Given the description of an element on the screen output the (x, y) to click on. 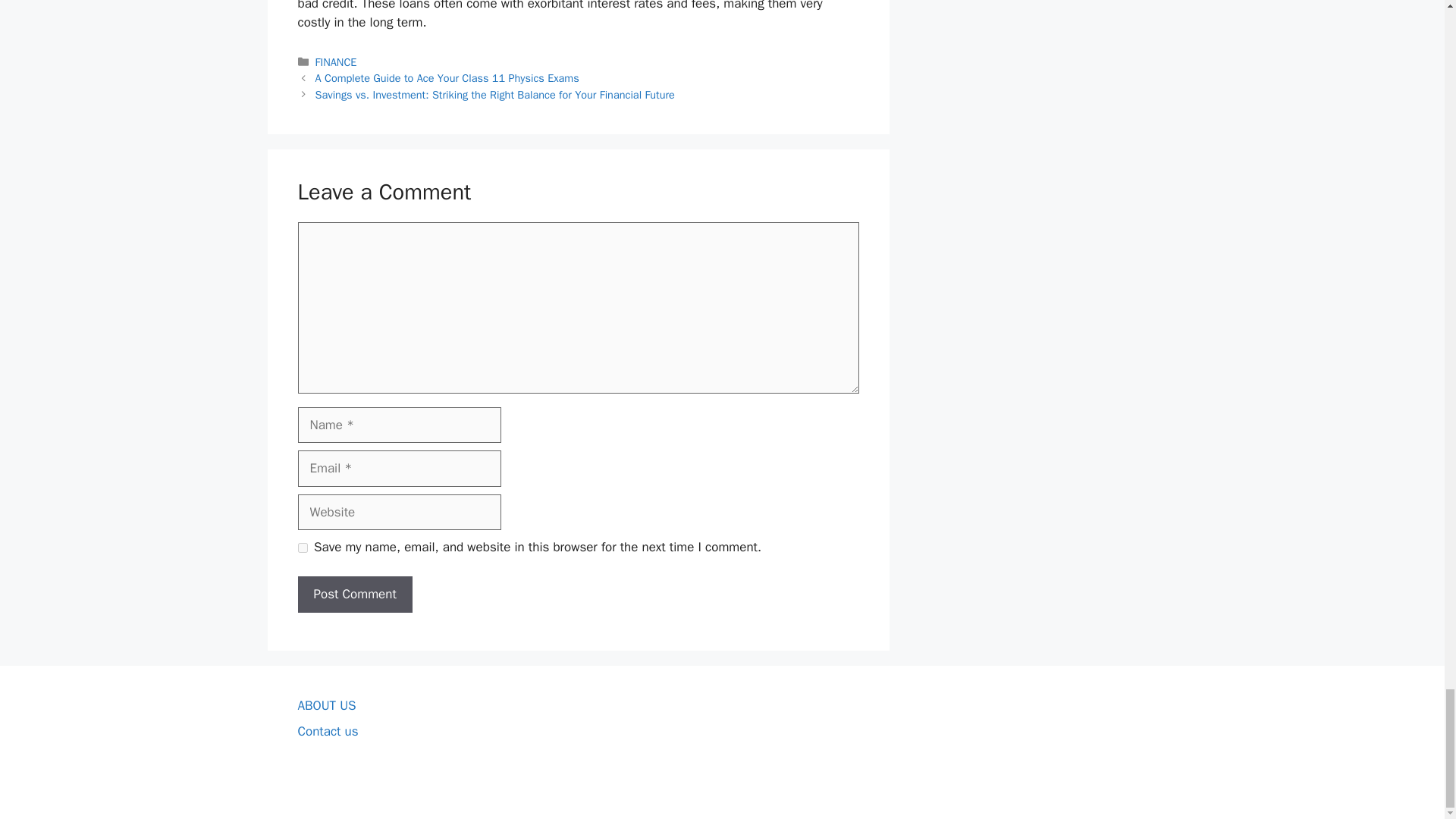
Contact us (327, 731)
GeneratePress (808, 794)
Post Comment (354, 594)
A Complete Guide to Ace Your Class 11 Physics Exams (447, 78)
yes (302, 547)
FINANCE (335, 61)
ABOUT US (326, 705)
Post Comment (354, 594)
